Given the description of an element on the screen output the (x, y) to click on. 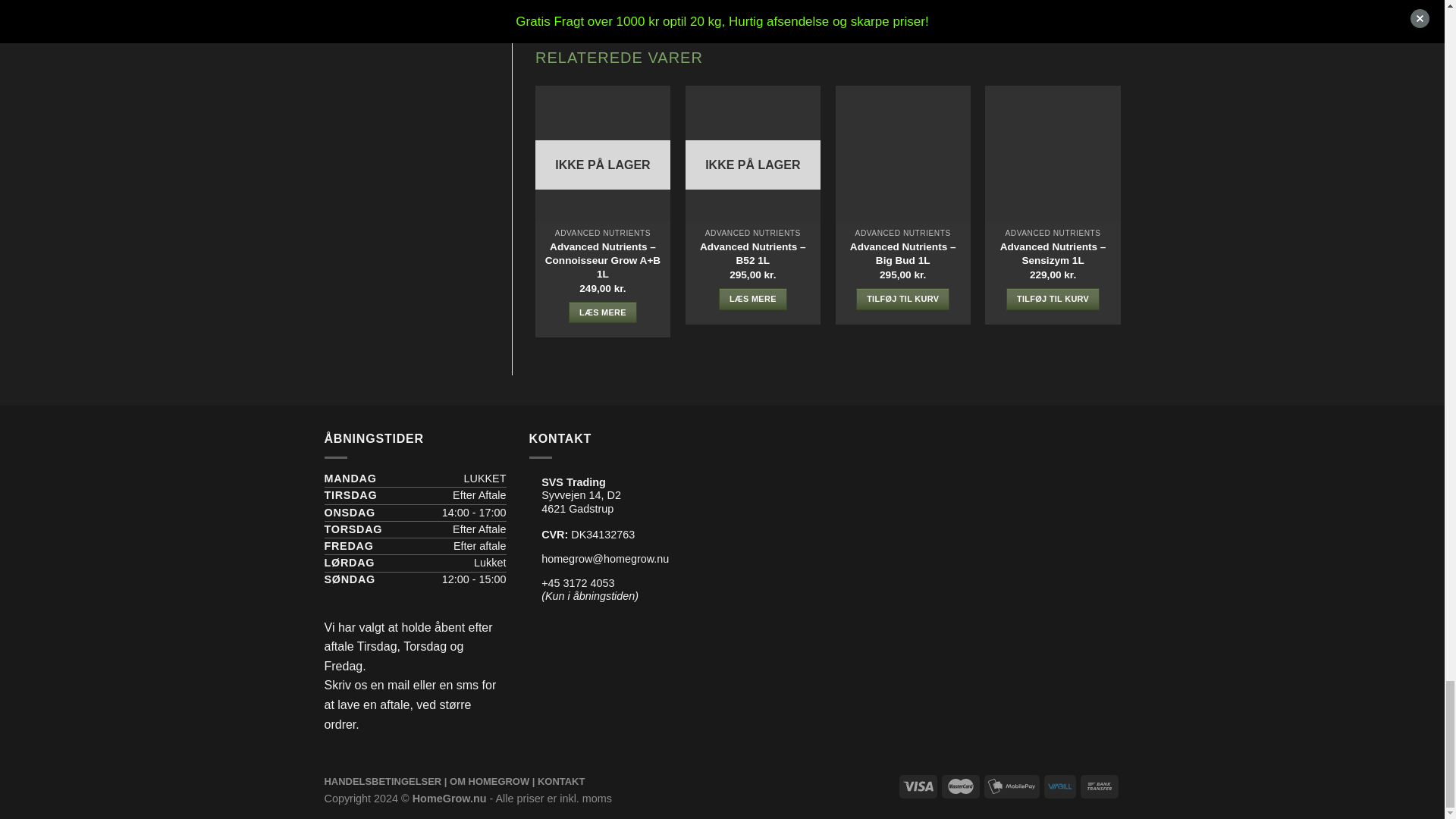
Ring til HomeGrow.nu (577, 582)
Send en e-mail til HomeGrow.nu (604, 558)
Handelsbetingelser (383, 781)
Kontakt HomeGrow.nu (561, 781)
Om HomeGrow.nu (489, 781)
